Given the description of an element on the screen output the (x, y) to click on. 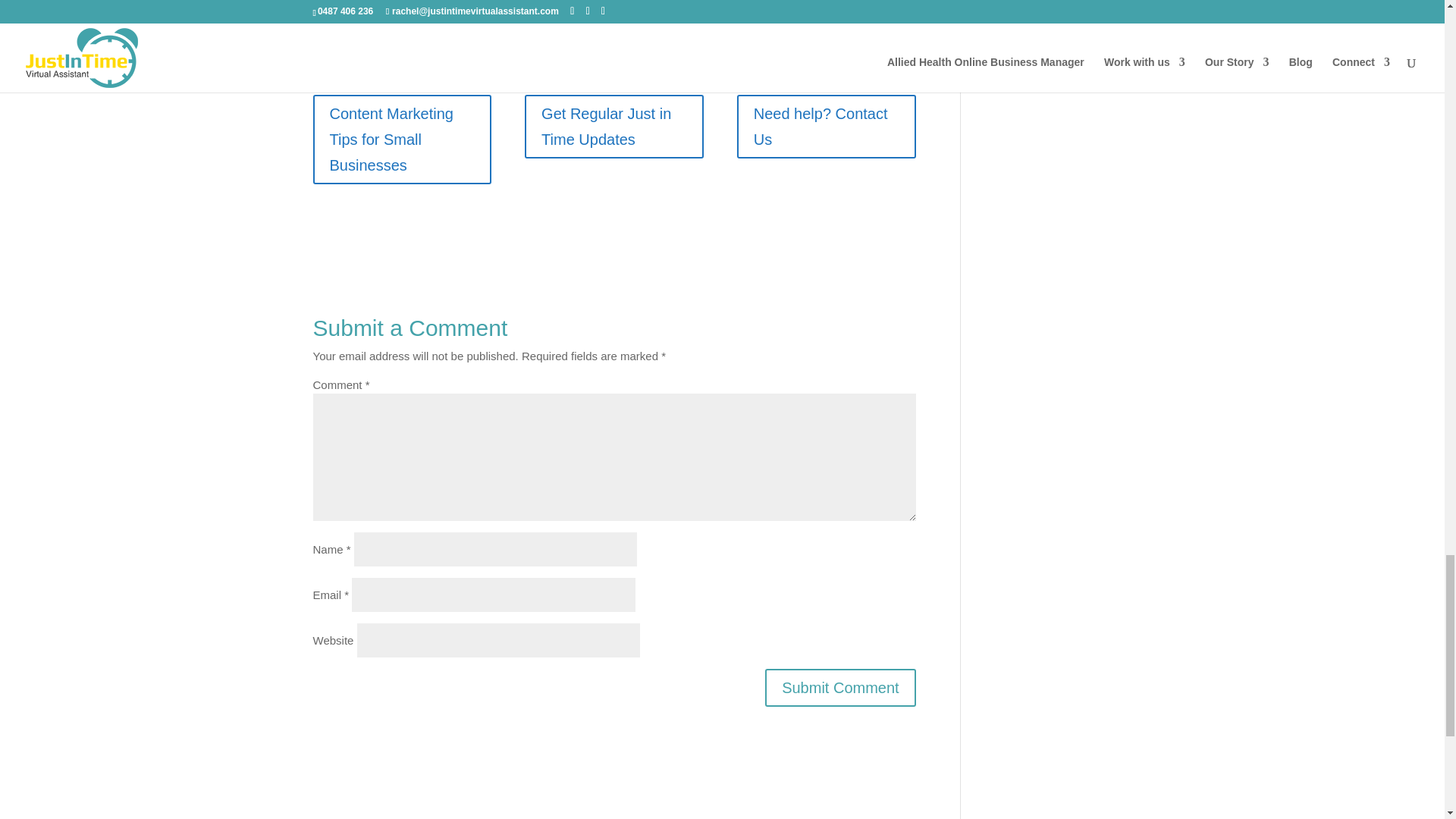
21 ways to extend the lifespan of content  (593, 27)
Submit Comment (840, 687)
What and How Often Should You Post on Social Media (590, 10)
